Given the description of an element on the screen output the (x, y) to click on. 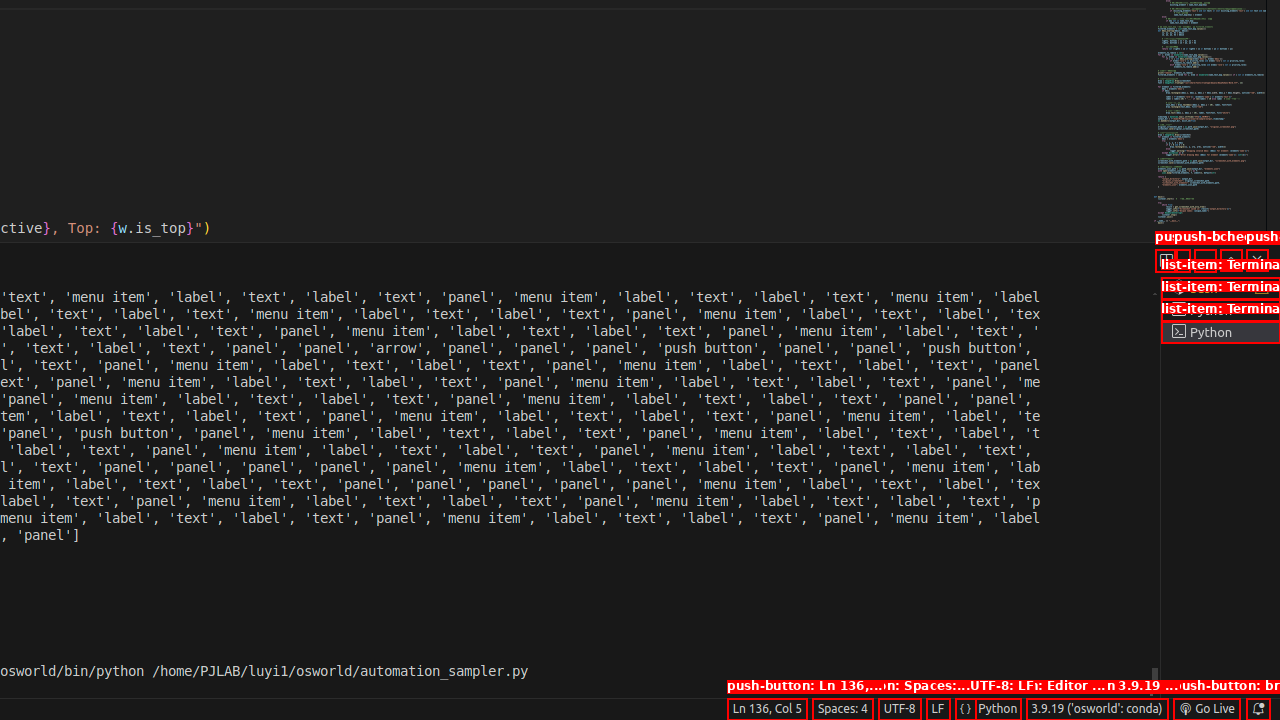
Terminal 2 Python Element type: list-item (1220, 310)
LF Element type: push-button (938, 709)
3.9.19 ('osworld': conda), ~/anaconda3/envs/osworld/bin/python Element type: push-button (1097, 709)
Editor Language Status: Auto Import Completions: false, next: Type Checking: off Element type: push-button (965, 709)
Terminal 1 bash Element type: list-item (1220, 288)
